Given the description of an element on the screen output the (x, y) to click on. 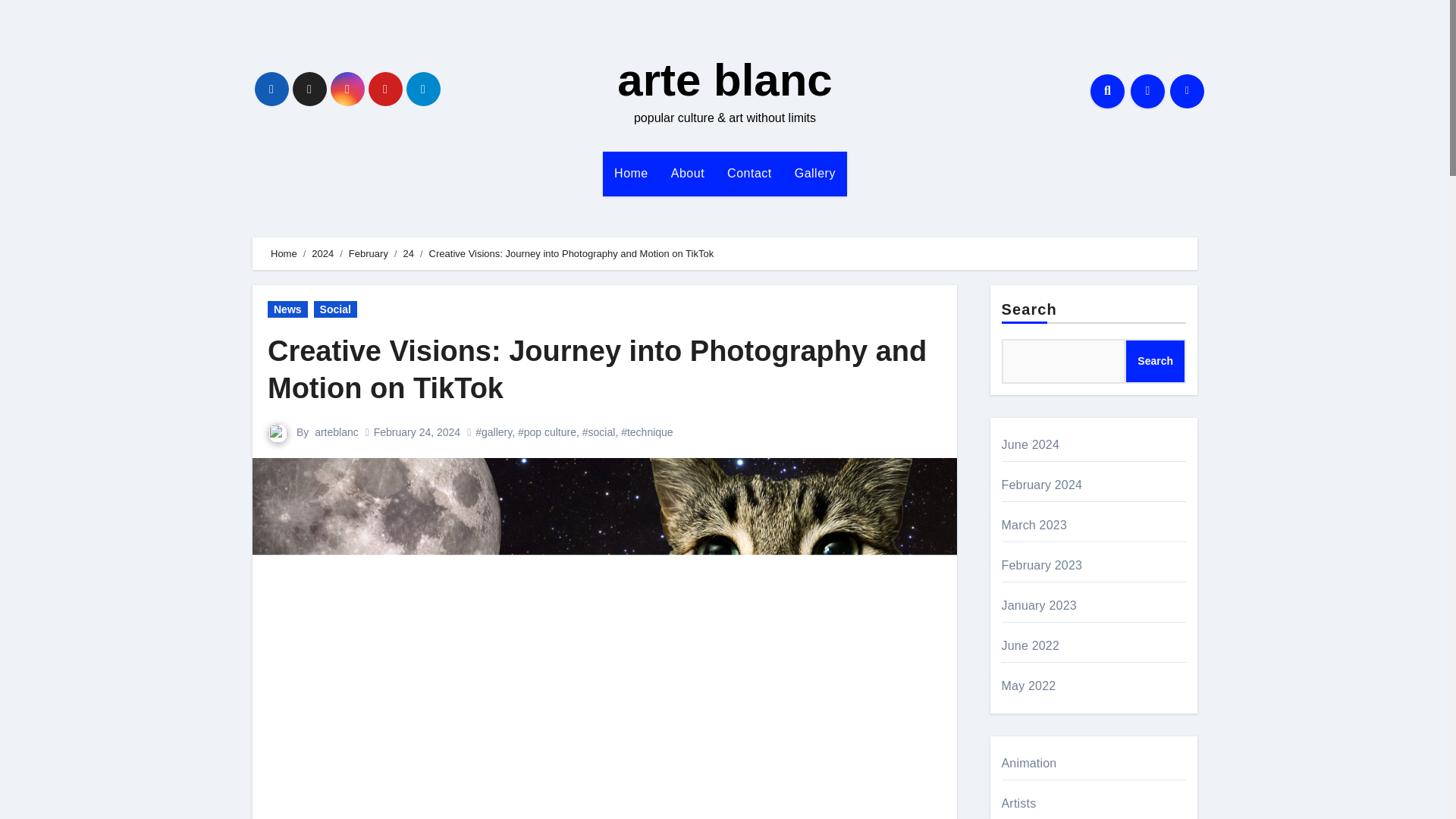
Contact (749, 173)
Home (630, 173)
Gallery (815, 173)
About (687, 173)
Social (335, 309)
arte blanc (724, 79)
February 24, 2024 (417, 431)
About (687, 173)
Gallery (815, 173)
24 (408, 253)
Home (283, 253)
Contact (749, 173)
News (287, 309)
